Given the description of an element on the screen output the (x, y) to click on. 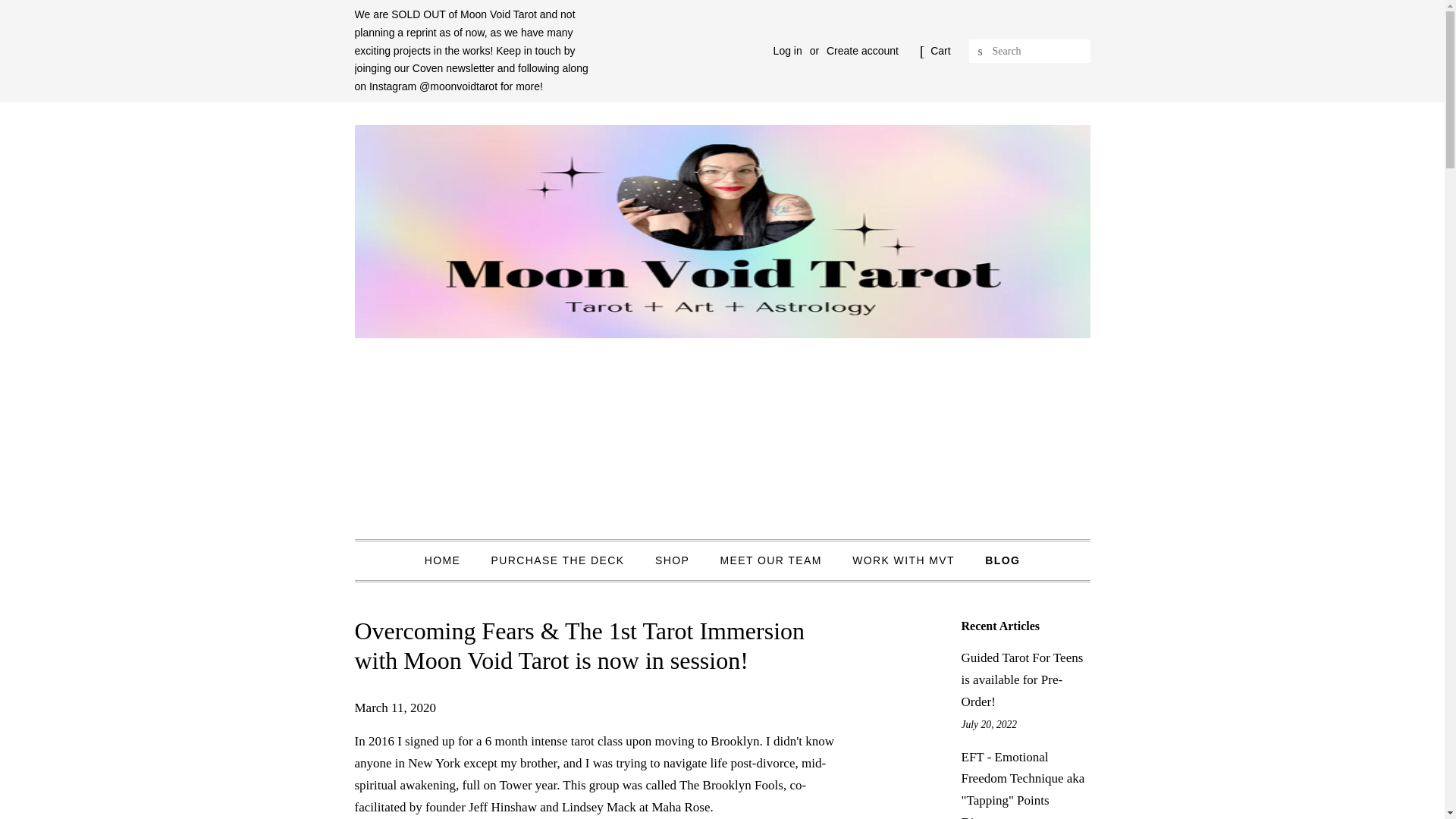
Cart (940, 51)
SEARCH (980, 51)
HOME (450, 561)
SHOP (673, 561)
Log in (787, 50)
Create account (862, 50)
PURCHASE THE DECK (560, 561)
MEET OUR TEAM (771, 561)
WORK WITH MVT (905, 561)
